Given the description of an element on the screen output the (x, y) to click on. 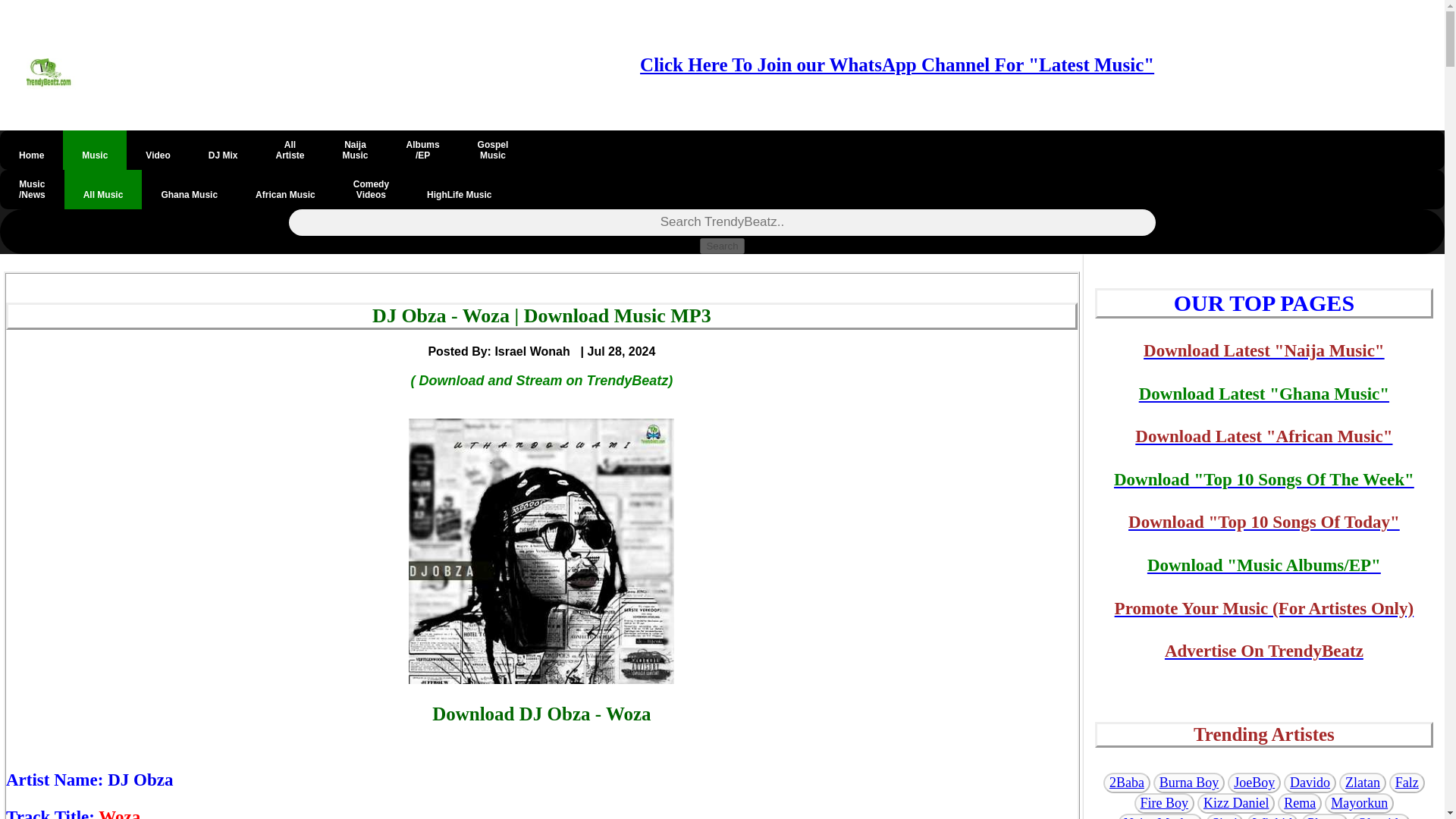
DJ Mix (223, 149)
Ghana Music (188, 189)
HighLife Music (459, 189)
African Music (492, 149)
Music (290, 149)
DJ Obza (370, 189)
Search (284, 189)
Home (94, 149)
Video (140, 779)
All Music (722, 245)
Click Here To Join our WhatsApp Channel For "Latest Music" (355, 149)
